Given the description of an element on the screen output the (x, y) to click on. 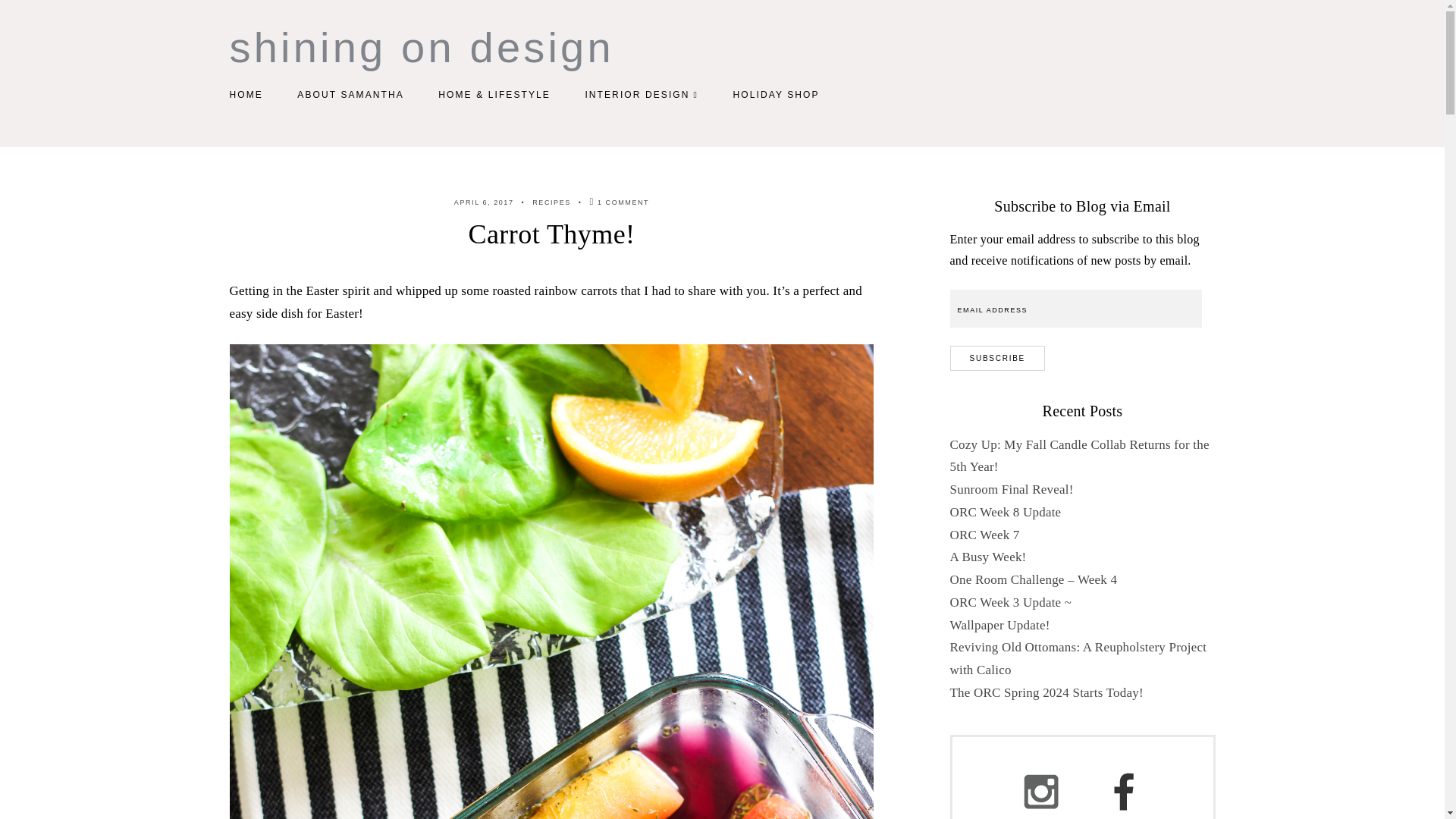
View all posts in Recipes (551, 202)
A Busy Week! (987, 556)
HOLIDAY SHOP (775, 94)
1 COMMENT (619, 202)
SUBSCRIBE (997, 358)
RECIPES (551, 202)
Wallpaper Update! (999, 625)
ABOUT SAMANTHA (350, 94)
Sunroom Final Reveal! (1011, 489)
Reviving Old Ottomans: A Reupholstery Project with Calico (1078, 658)
